Given the description of an element on the screen output the (x, y) to click on. 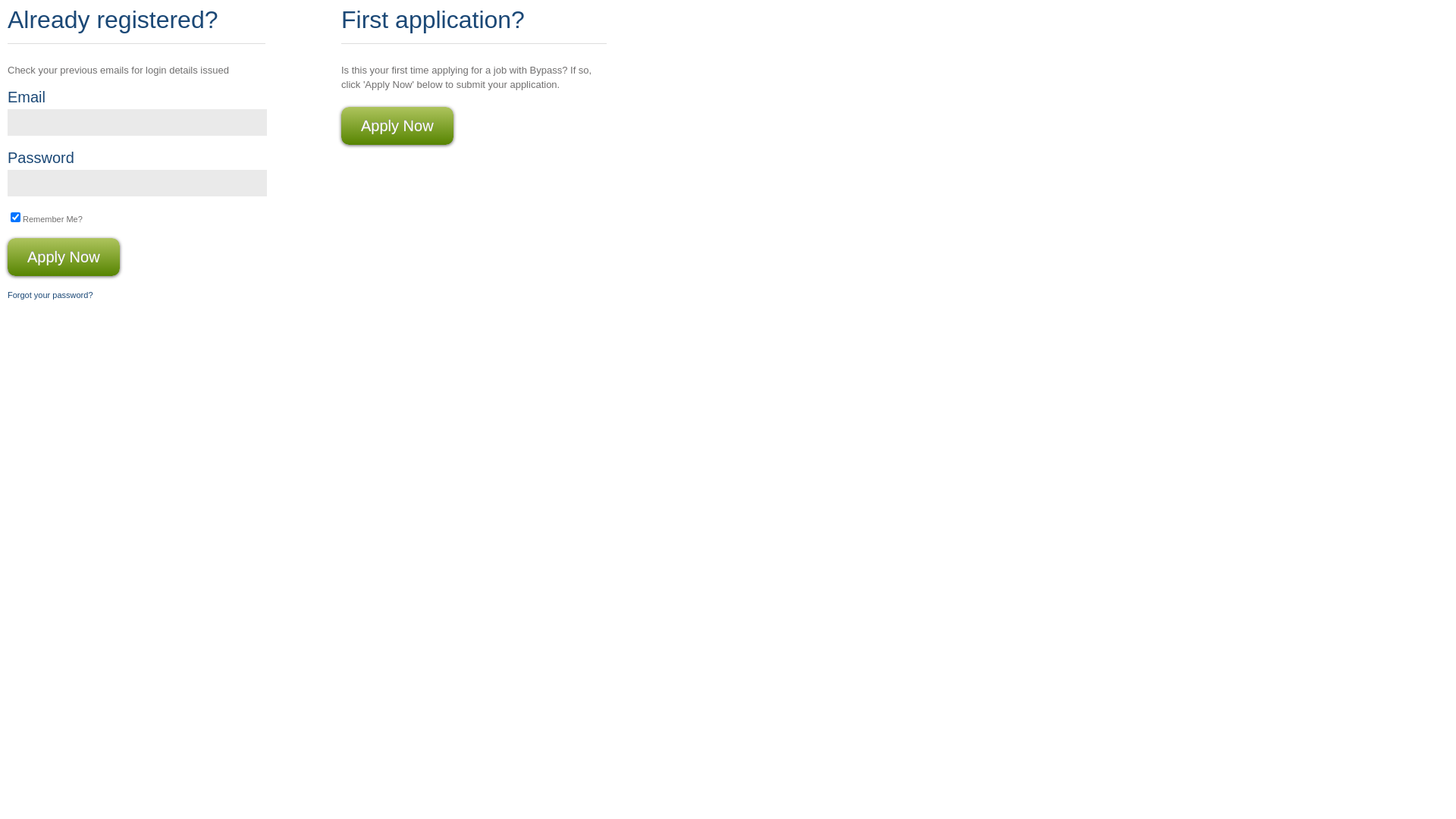
Forgot your password? Element type: text (50, 294)
Apply Now Element type: text (63, 257)
Apply Now Element type: text (397, 125)
